Given the description of an element on the screen output the (x, y) to click on. 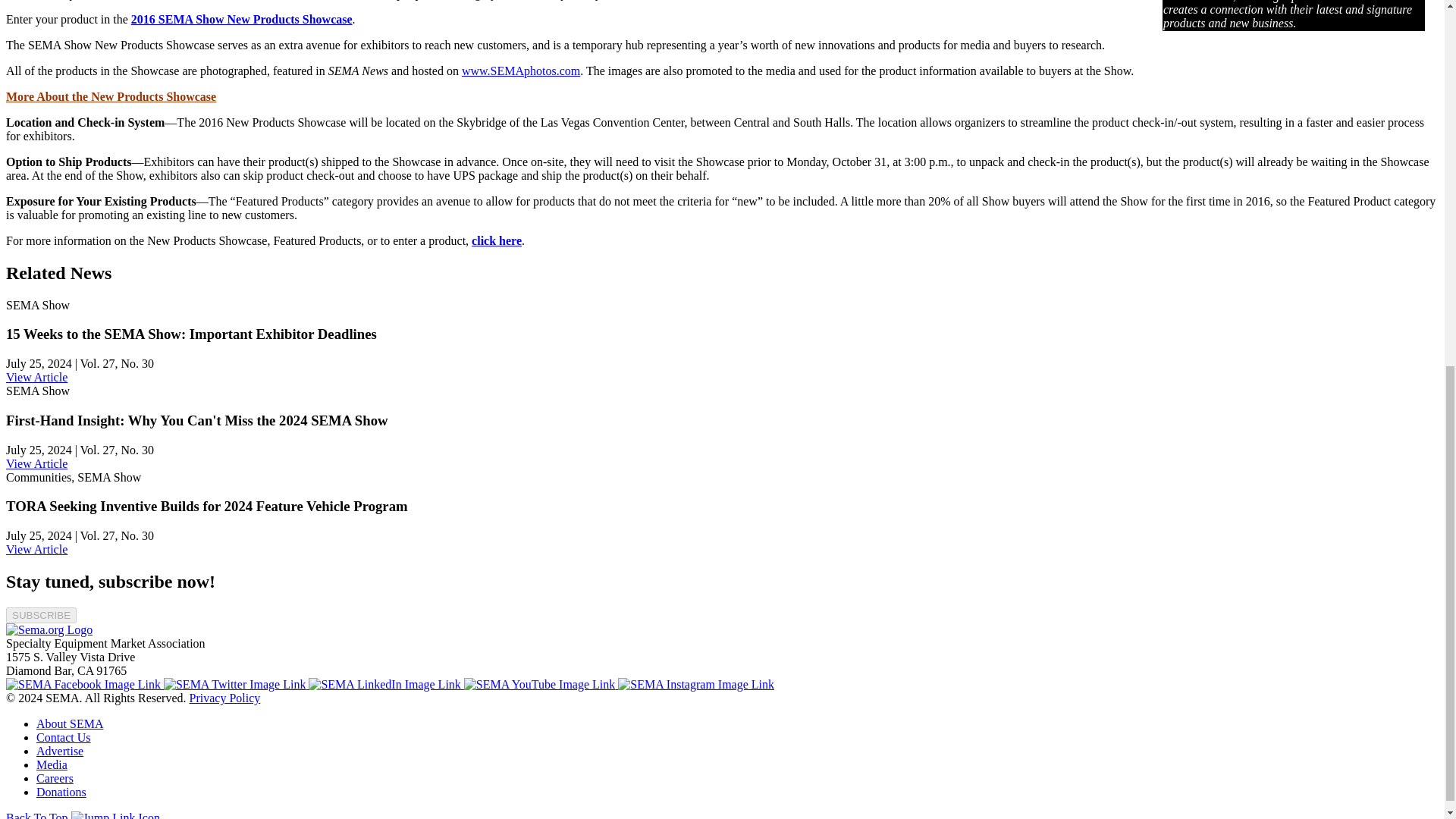
15 Weeks to the SEMA Show: Important Exhibitor Deadlines (35, 377)
Privacy Policy (224, 697)
View Article (35, 549)
SEMA Facebook Link (84, 684)
View Article (35, 377)
SEMA YouTube Link (540, 684)
click here (496, 240)
SEMA LinkedIn Link (385, 684)
First-Hand Insight: Why You Can't Miss the 2024 SEMA Show (35, 463)
www.SEMAphotos.com (520, 70)
SUBSCRIBE (41, 615)
View Article (35, 463)
2016 SEMA Show New Products Showcase (241, 19)
SEMA Instagram Link (695, 684)
